Given the description of an element on the screen output the (x, y) to click on. 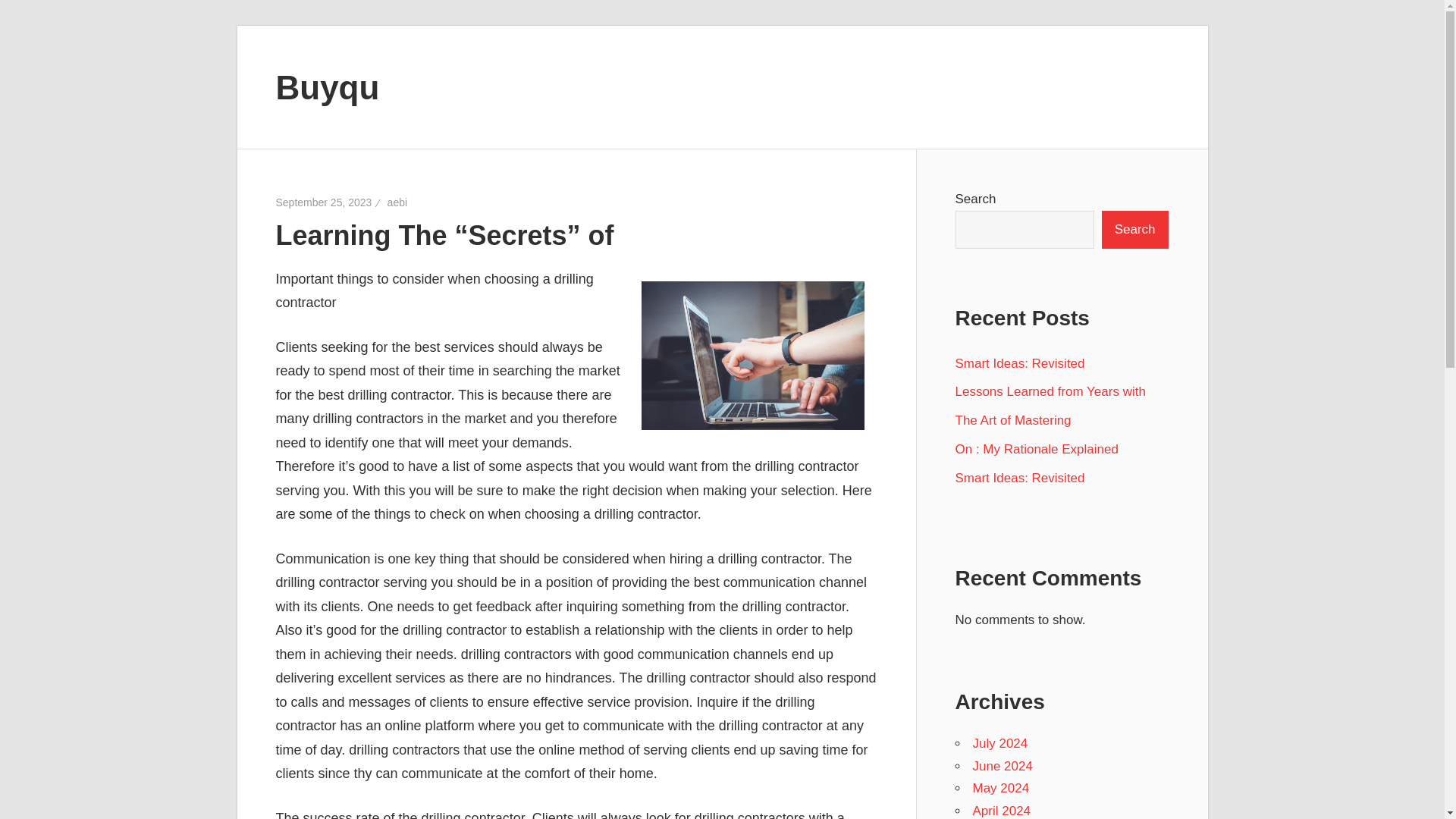
April 2024 (1001, 810)
12:16 pm (324, 202)
Smart Ideas: Revisited (1019, 363)
Lessons Learned from Years with (1050, 391)
September 25, 2023 (324, 202)
Search (1135, 229)
The Art of Mastering (1013, 420)
Smart Ideas: Revisited (1019, 477)
aebi (397, 202)
Buyqu (328, 86)
View all posts by aebi (397, 202)
July 2024 (999, 743)
May 2024 (1000, 788)
On : My Rationale Explained (1036, 449)
